Given the description of an element on the screen output the (x, y) to click on. 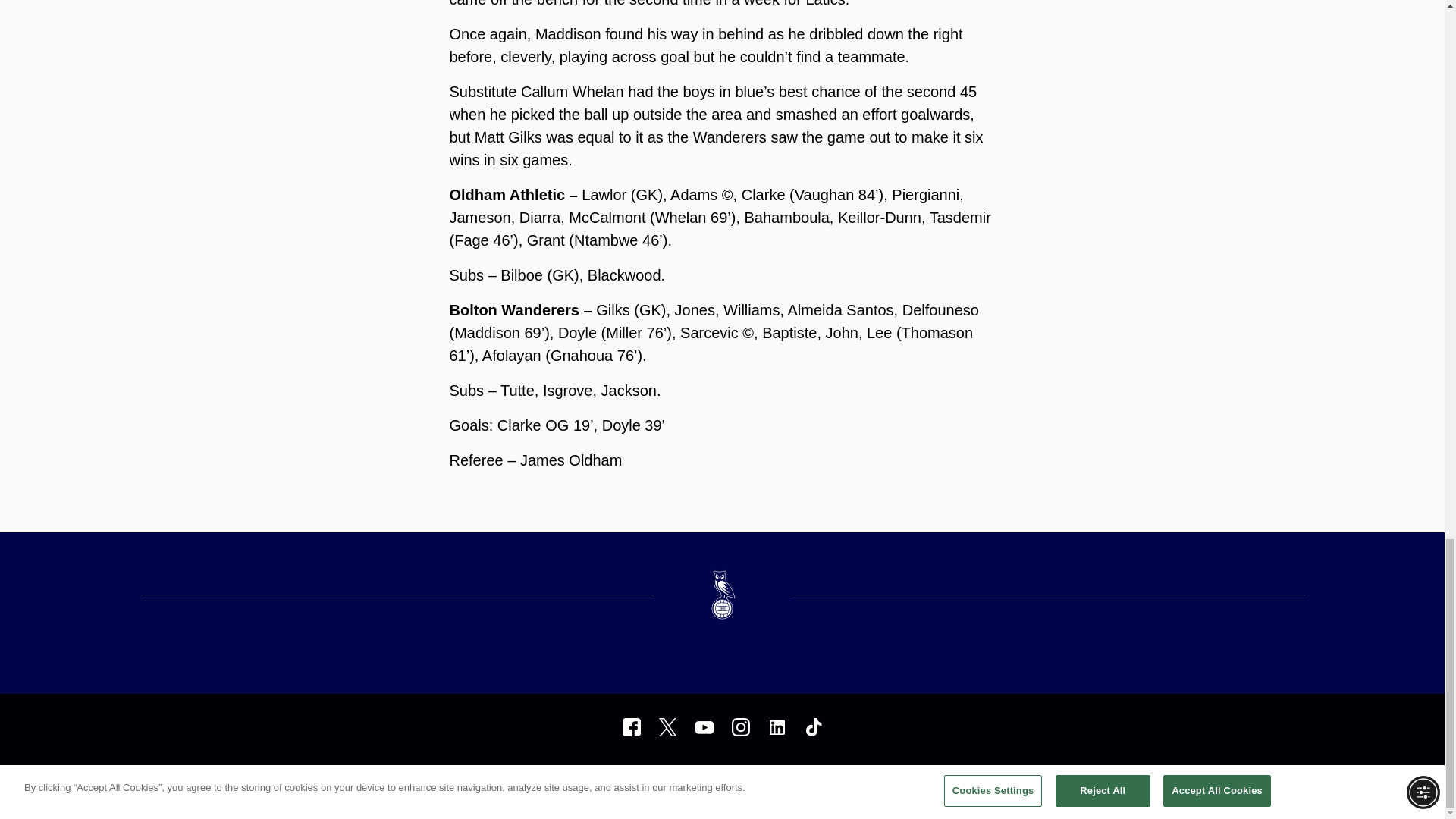
Company Details (796, 779)
OfficialOAFC (630, 727)
Contact Us (872, 779)
Oldham Athletic (776, 727)
Privacy Policy (648, 779)
Company Details (796, 779)
Accessibility (719, 779)
Terms of Use (575, 779)
Accessibility (719, 779)
Terms of Use (575, 779)
